Given the description of an element on the screen output the (x, y) to click on. 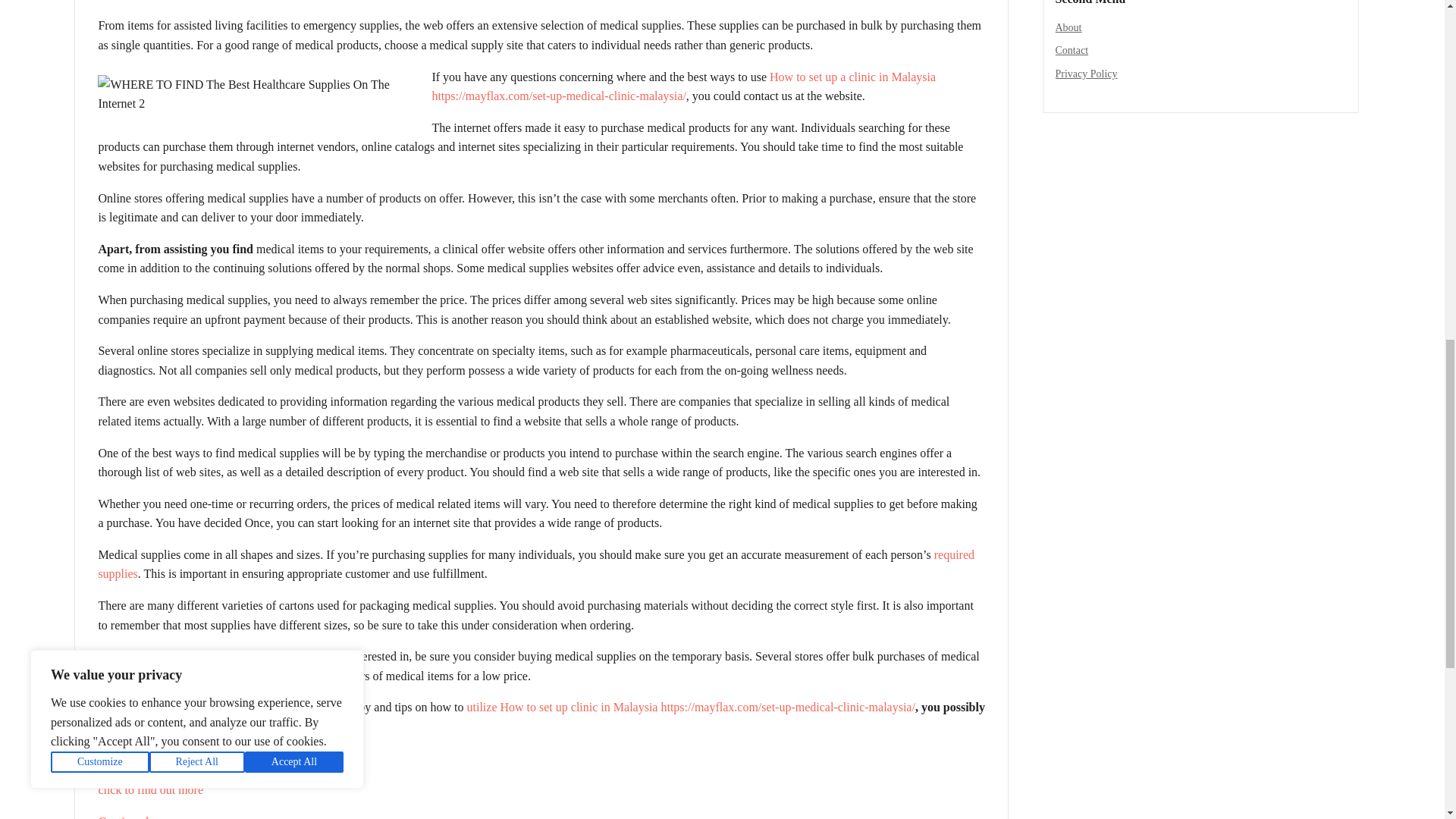
utilize (482, 707)
click to find out more (150, 789)
Continued (122, 816)
required supplies (535, 563)
admin (119, 0)
